Given the description of an element on the screen output the (x, y) to click on. 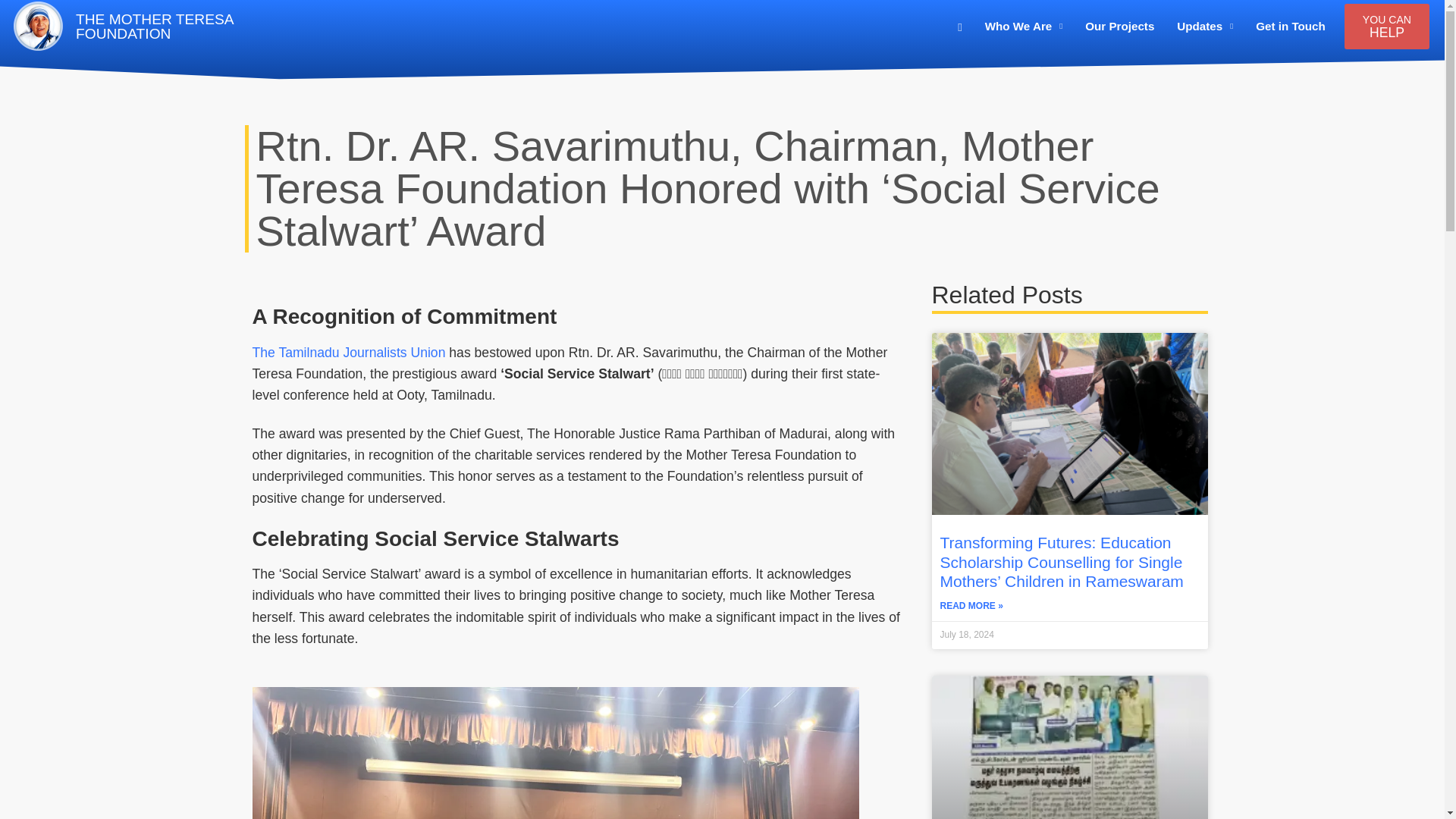
Get in Touch (154, 2)
Updates (1290, 17)
Who We Are (1386, 26)
Our Projects (1204, 11)
